Given the description of an element on the screen output the (x, y) to click on. 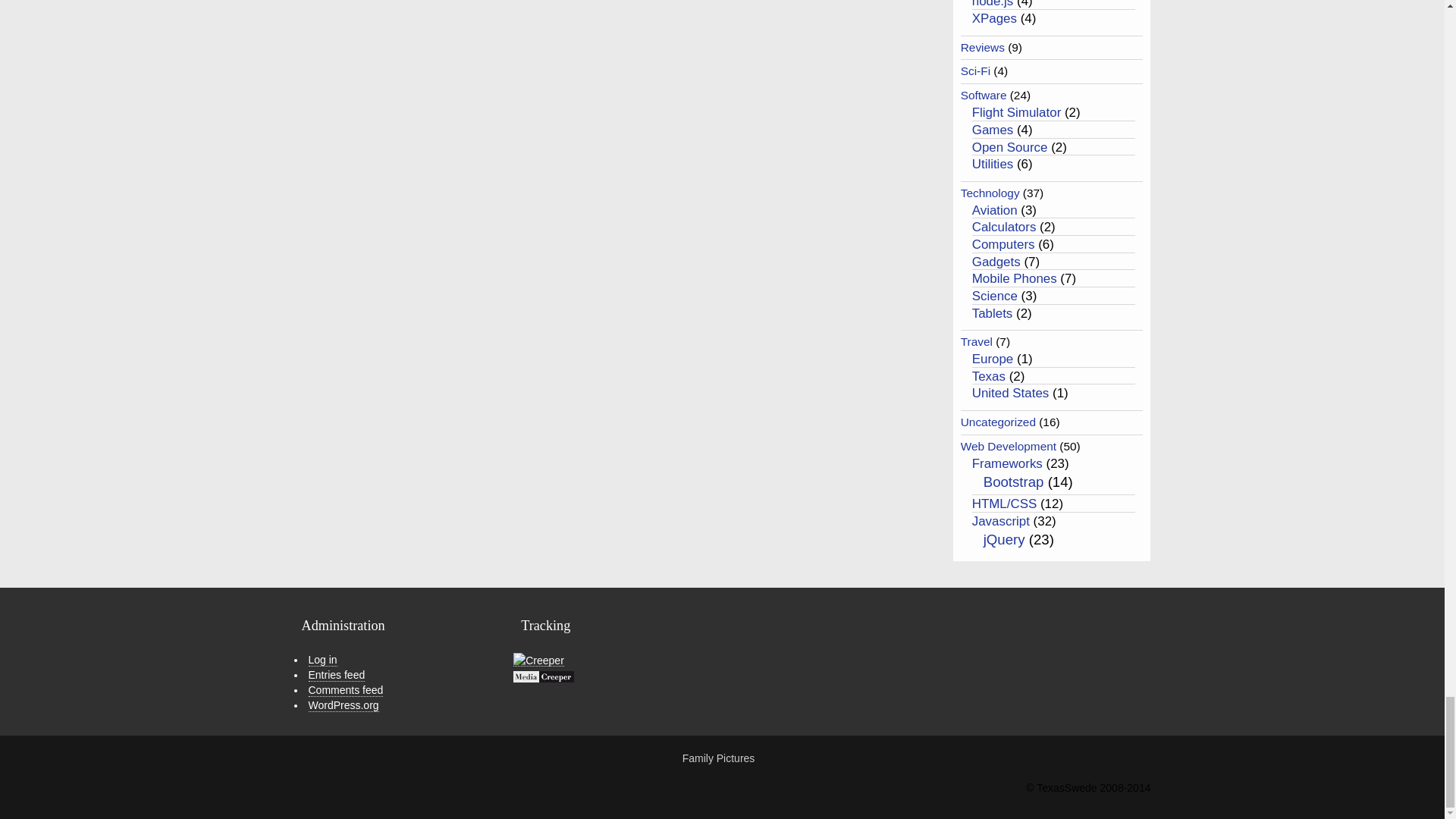
MediaCreeper (543, 675)
Creeper (538, 659)
